Given the description of an element on the screen output the (x, y) to click on. 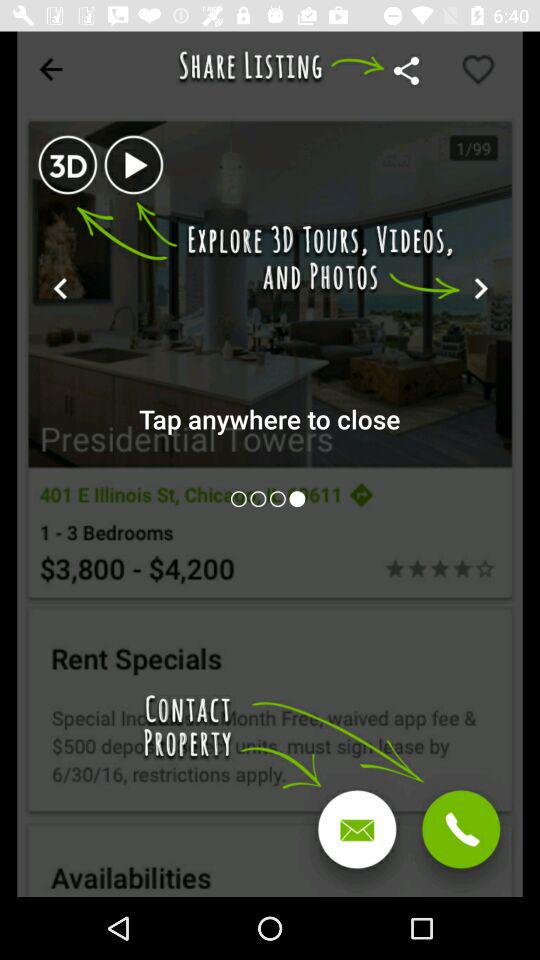
previous image (279, 498)
